Given the description of an element on the screen output the (x, y) to click on. 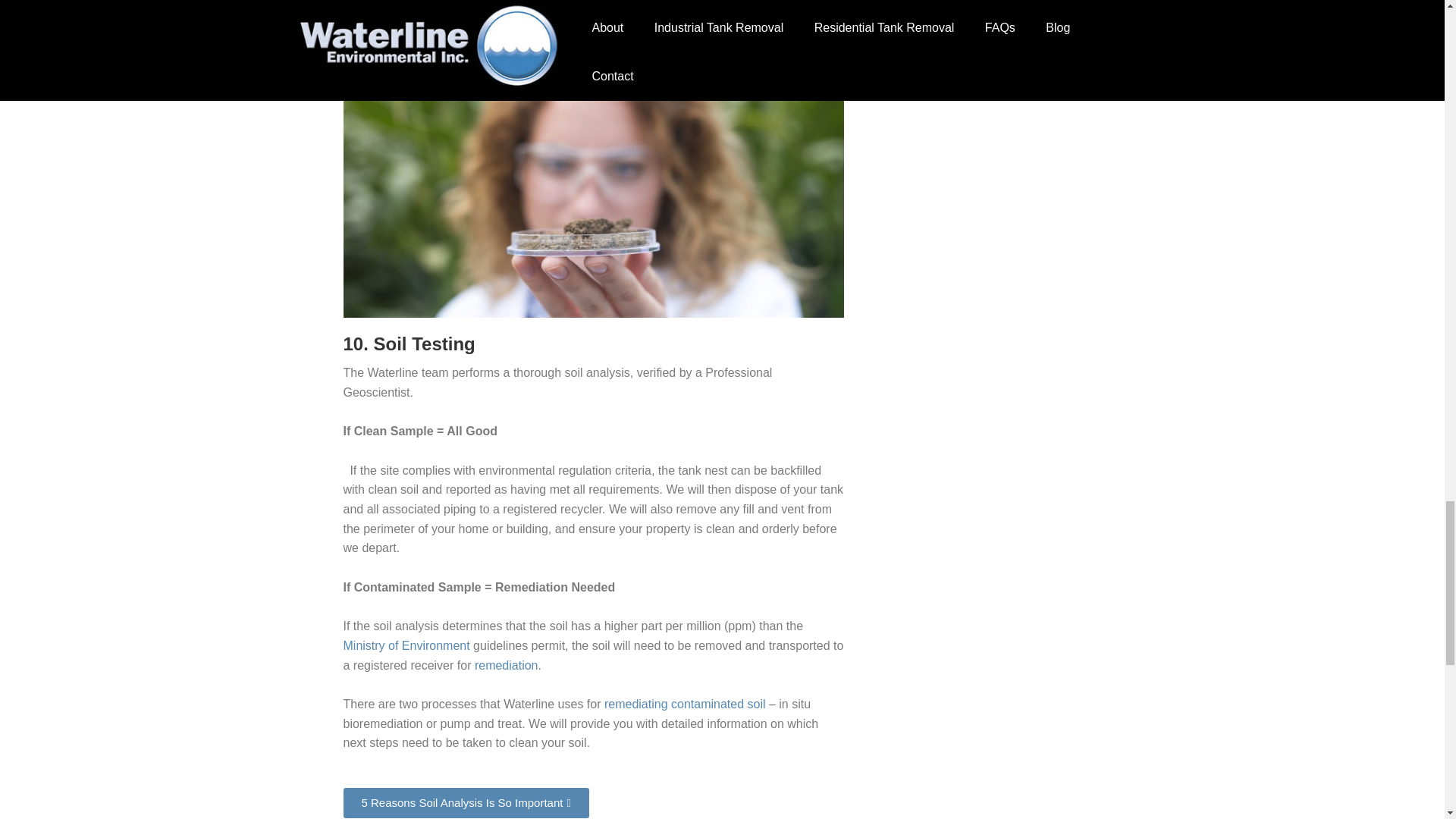
5 Reasons Soil Analysis Is So Important (465, 802)
remediating contaminated soil (684, 703)
Ministry of Environment (405, 645)
remediation (506, 665)
